Given the description of an element on the screen output the (x, y) to click on. 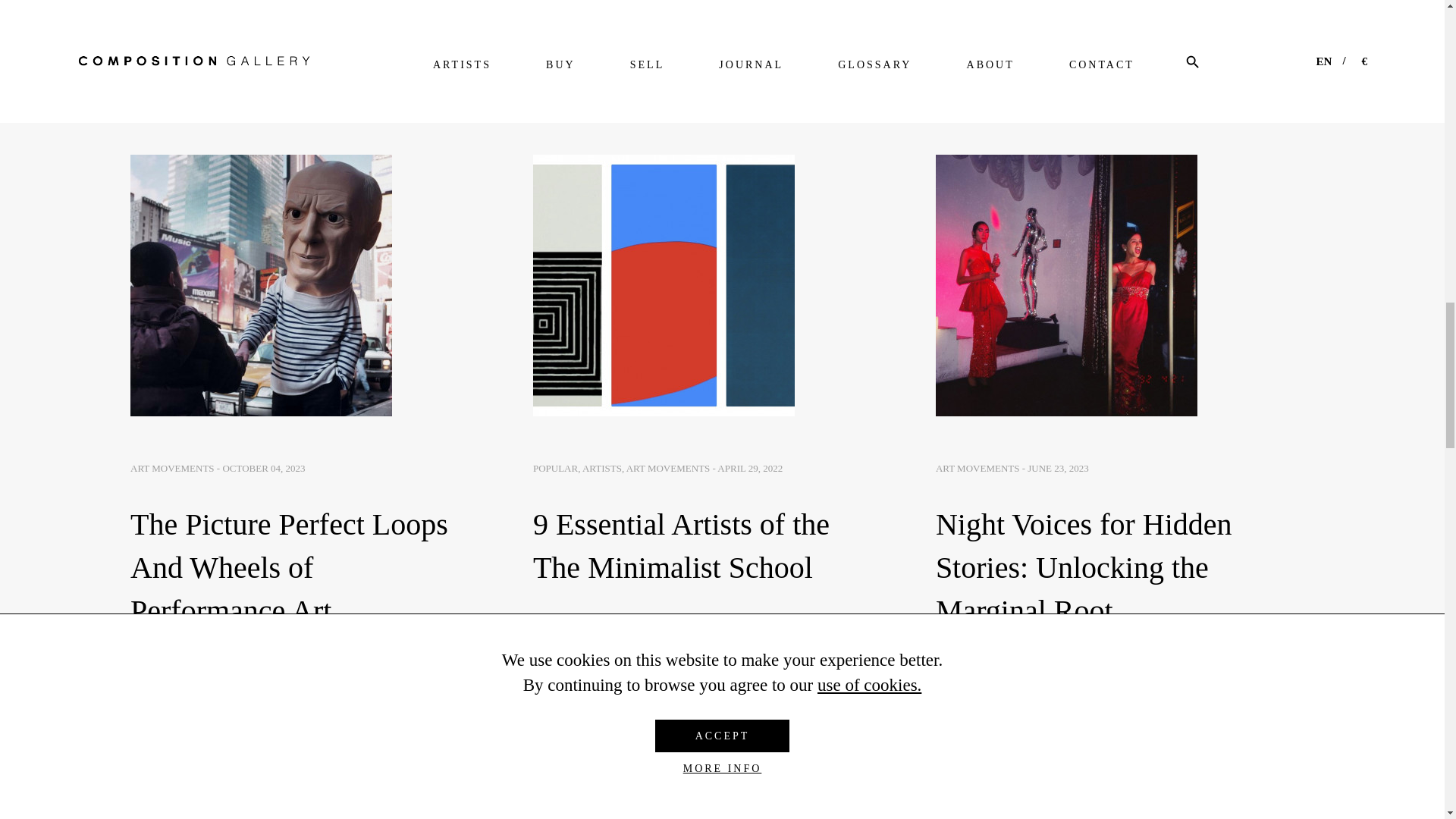
Gouache (1166, 811)
Glass (277, 811)
Photograph (722, 811)
The Picture Perfect Loops And Wheels of Performance Art (261, 285)
9 Essential Artists of the The Minimalist School (663, 285)
